Given the description of an element on the screen output the (x, y) to click on. 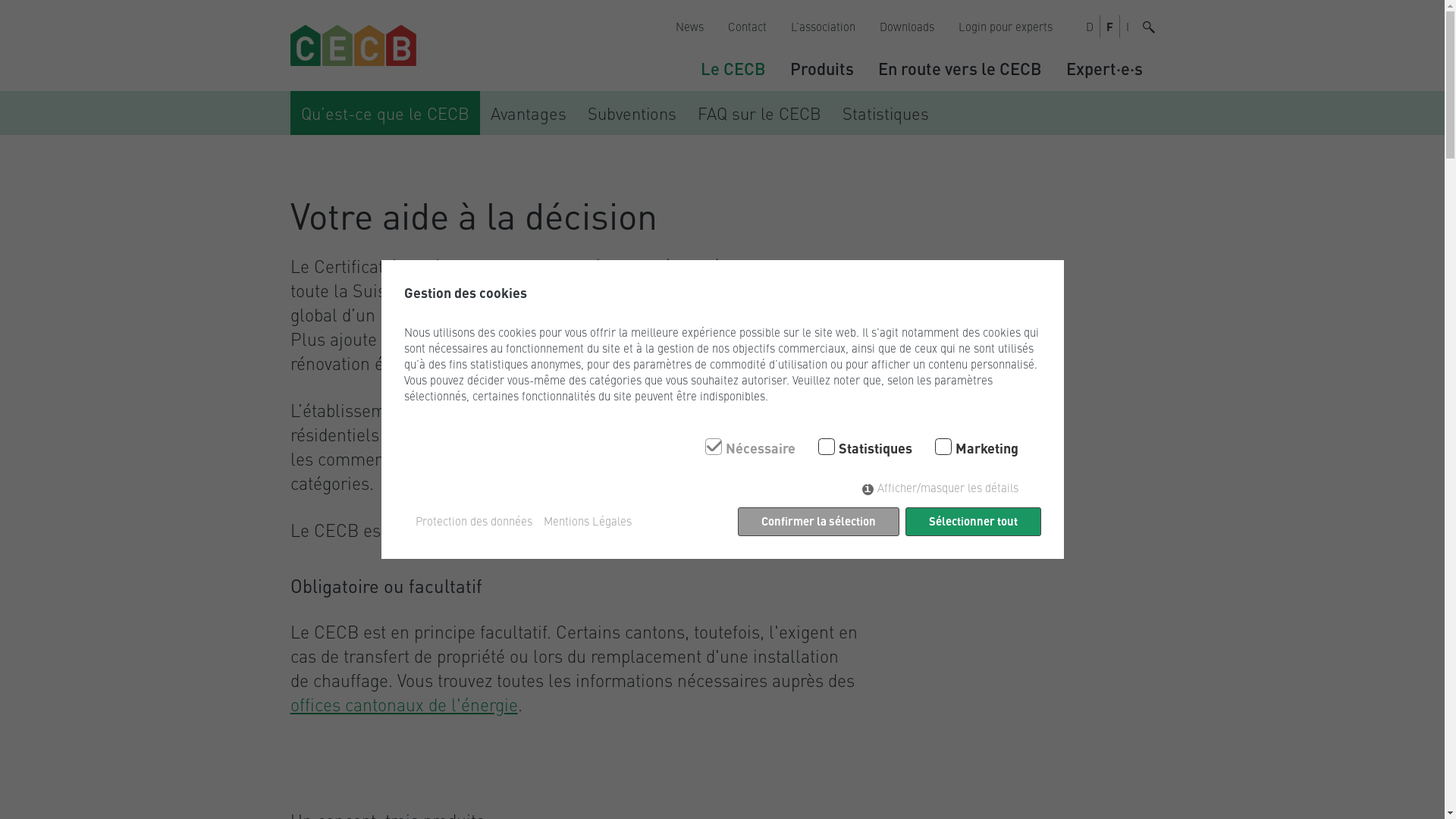
Subventions Element type: text (631, 113)
Avantages Element type: text (527, 113)
D Element type: text (1089, 26)
F Element type: text (1108, 26)
Downloads Element type: text (906, 26)
Produits Element type: text (822, 68)
Statistiques Element type: text (884, 113)
Le CECB Element type: text (733, 68)
FAQ sur le CECB Element type: text (759, 113)
normalisation du CECB Element type: text (568, 529)
News Element type: text (688, 26)
Contact Element type: text (746, 26)
I Element type: text (1126, 26)
Login pour experts Element type: text (1005, 26)
En route vers le CECB Element type: text (960, 68)
